Given the description of an element on the screen output the (x, y) to click on. 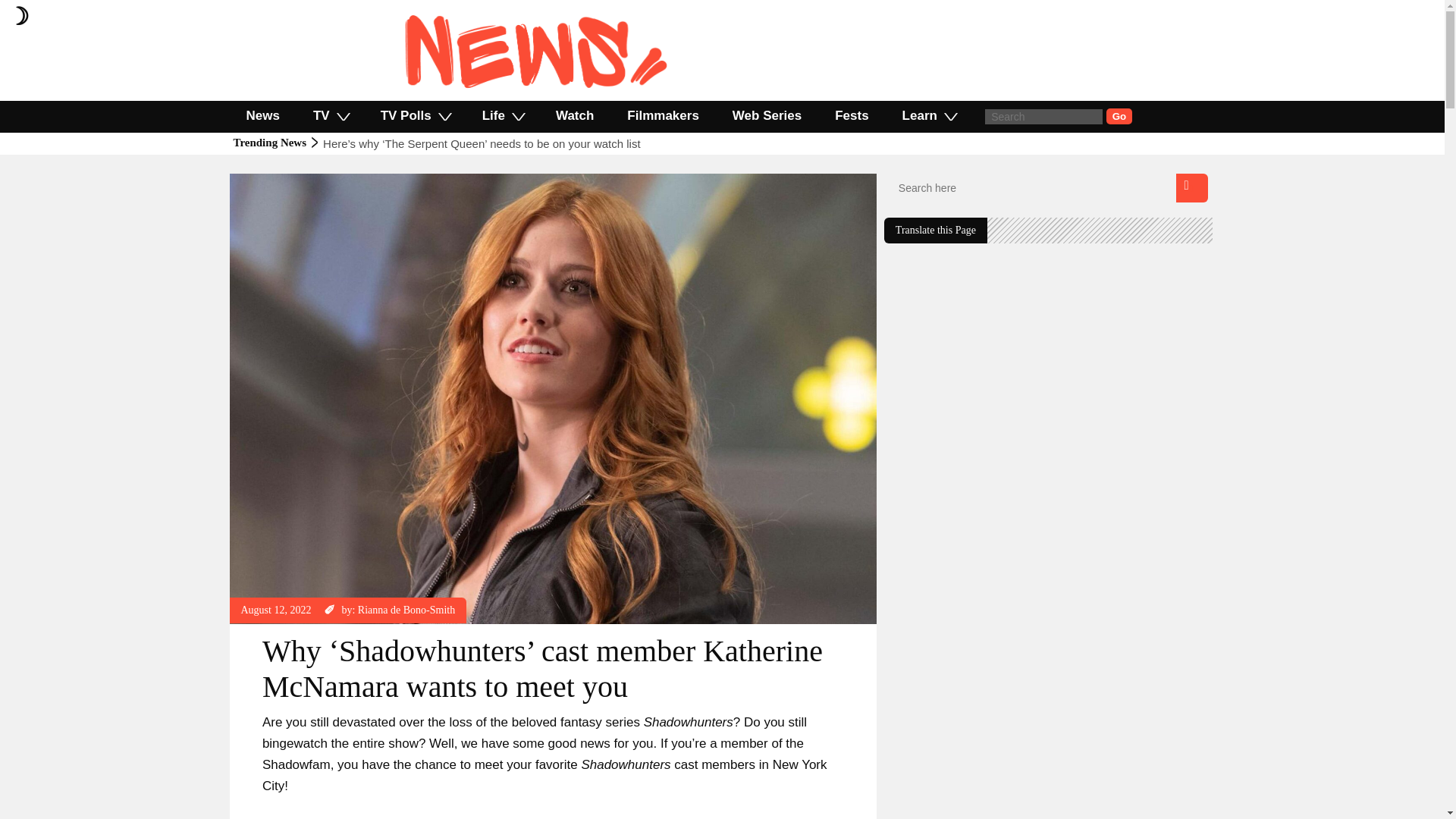
Learn (928, 115)
News (253, 180)
News (261, 115)
Life (501, 115)
Web Series (767, 115)
TV Polls (414, 115)
TV (330, 115)
Filmmakers (663, 115)
Watch (574, 115)
Shadowhunters (307, 180)
Go (1119, 116)
Go (1119, 116)
Go (1119, 116)
Fests (851, 115)
